Given the description of an element on the screen output the (x, y) to click on. 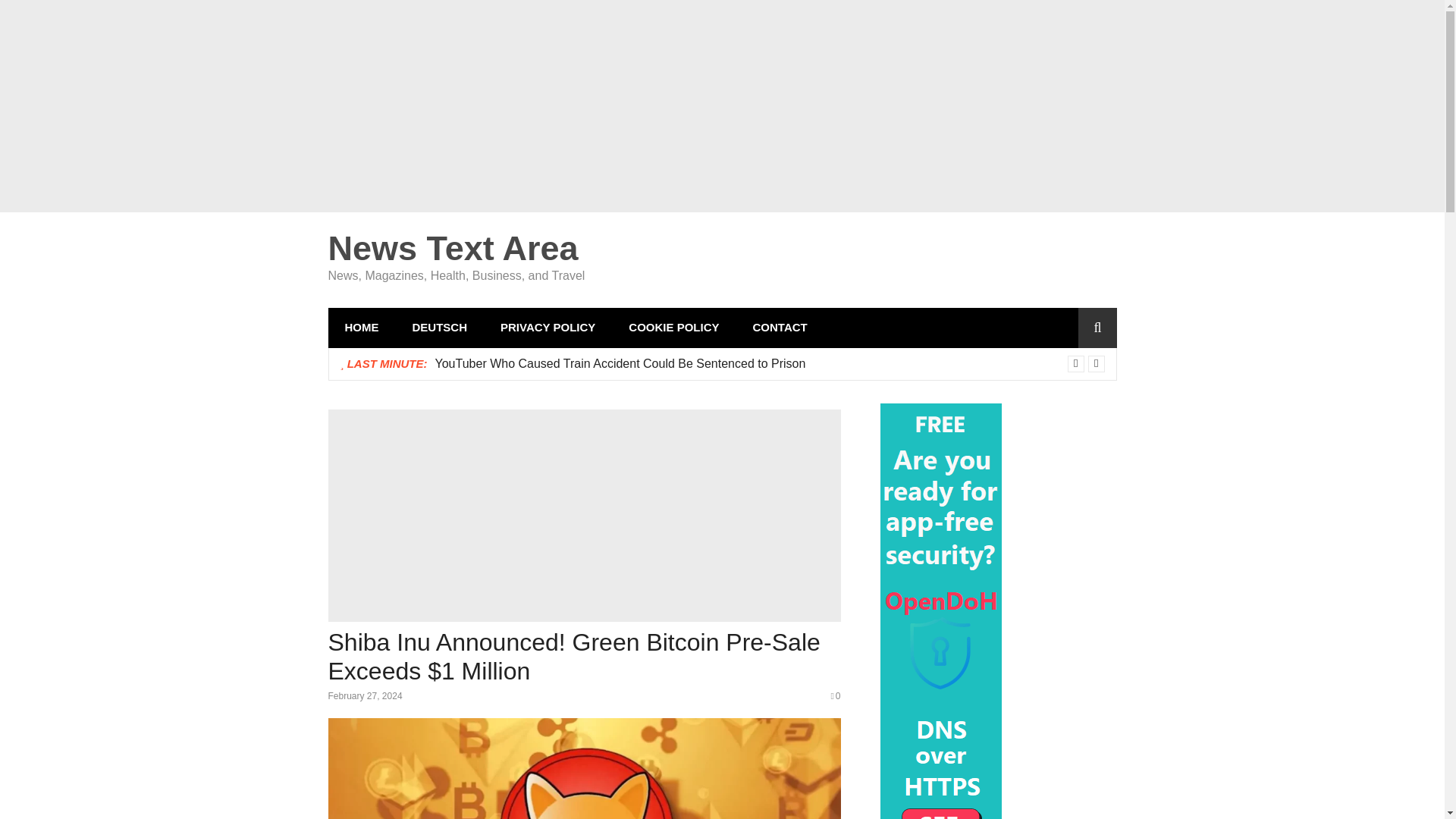
DEUTSCH (440, 327)
CONTACT (780, 327)
PRIVACY POLICY (547, 327)
HOME (360, 327)
News Text Area (452, 248)
COOKIE POLICY (673, 327)
